Given the description of an element on the screen output the (x, y) to click on. 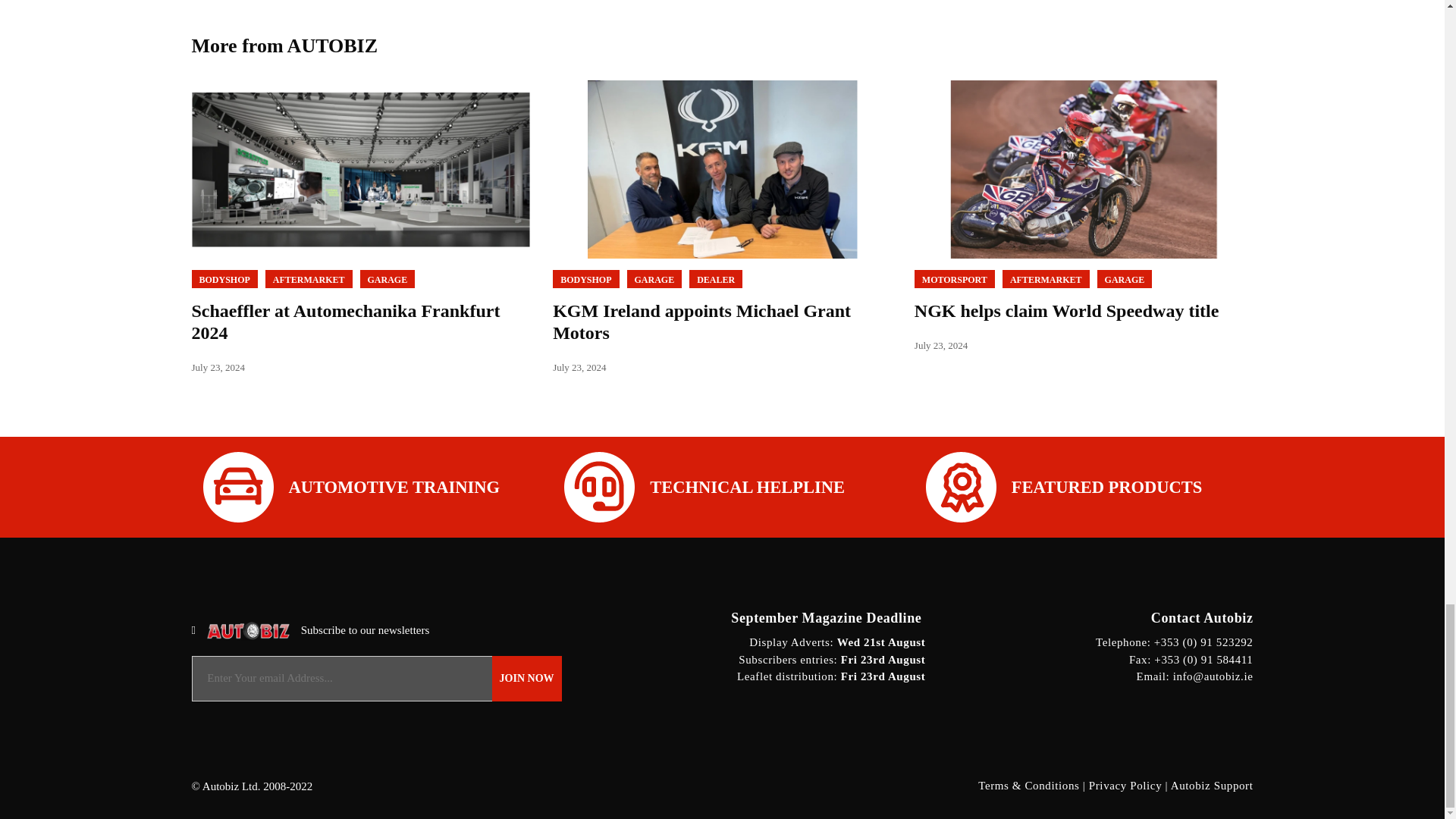
JOIN NOW (527, 678)
